Given the description of an element on the screen output the (x, y) to click on. 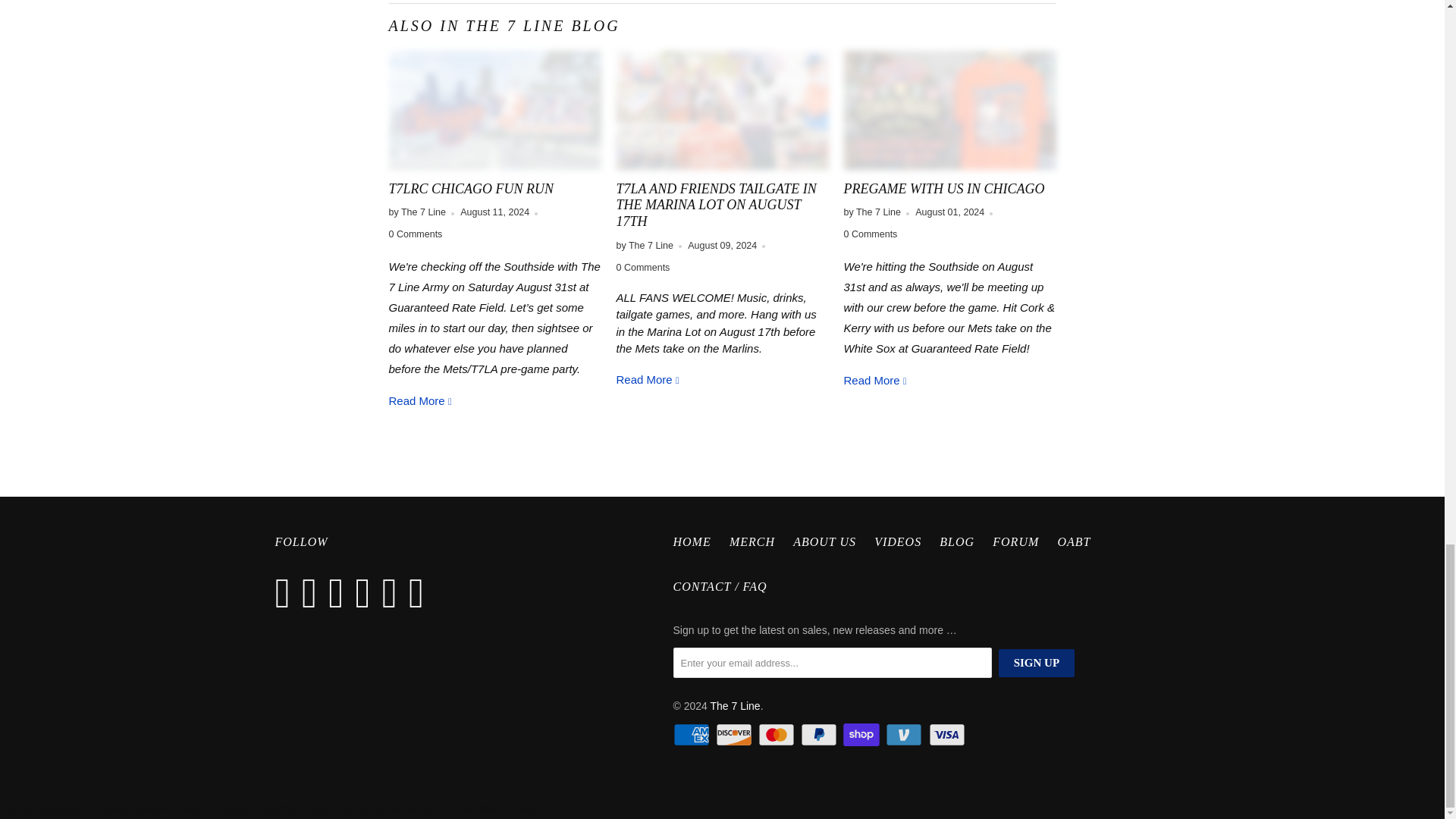
PREGAME WITH US IN CHICAGO (943, 188)
T7LA and Friends Tailgate in the Marina Lot on August 17th (647, 379)
T7LRC Chicago Fun Run (420, 400)
PREGAME WITH US IN CHICAGO (875, 379)
T7LRC Chicago Fun Run (493, 109)
T7LA and Friends Tailgate in the Marina Lot on August 17th (715, 204)
T7LA and Friends Tailgate in the Marina Lot on August 17th (721, 109)
T7LRC Chicago Fun Run (470, 188)
Sign Up (1036, 663)
PREGAME WITH US IN CHICAGO (949, 109)
